Given the description of an element on the screen output the (x, y) to click on. 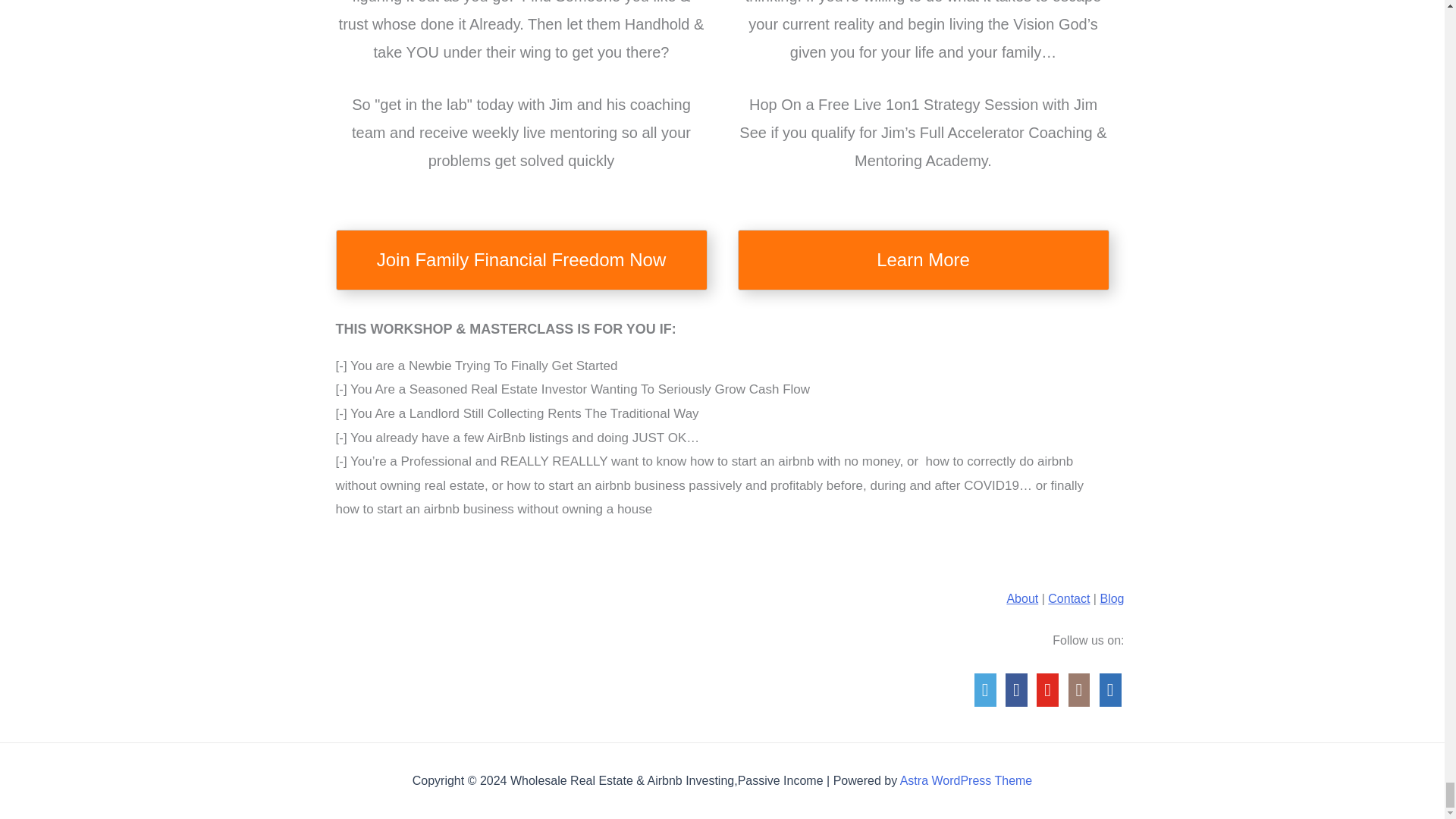
Blog (1111, 598)
Learn More (922, 260)
Join Family Financial Freedom Now (520, 260)
Astra WordPress Theme (965, 780)
About (1022, 598)
Contact (1068, 598)
